Given the description of an element on the screen output the (x, y) to click on. 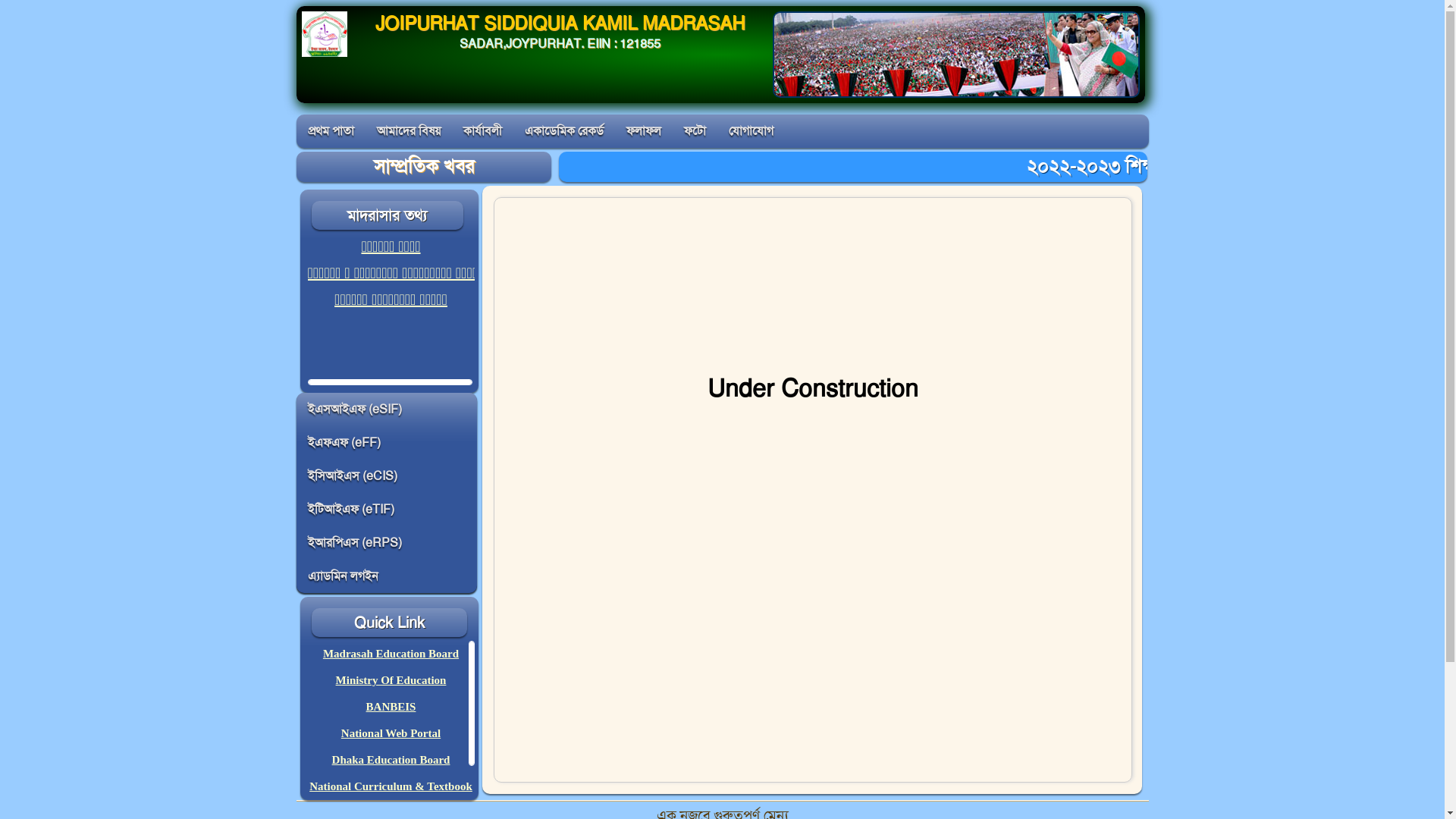
National Curriculum & Textbook Element type: text (390, 786)
Dhaka Education Board Element type: text (391, 759)
National Web Portal Element type: text (390, 733)
BANBEIS Element type: text (391, 706)
Madrasah Education Board Element type: text (390, 653)
Ministry Of Education Element type: text (390, 680)
